Given the description of an element on the screen output the (x, y) to click on. 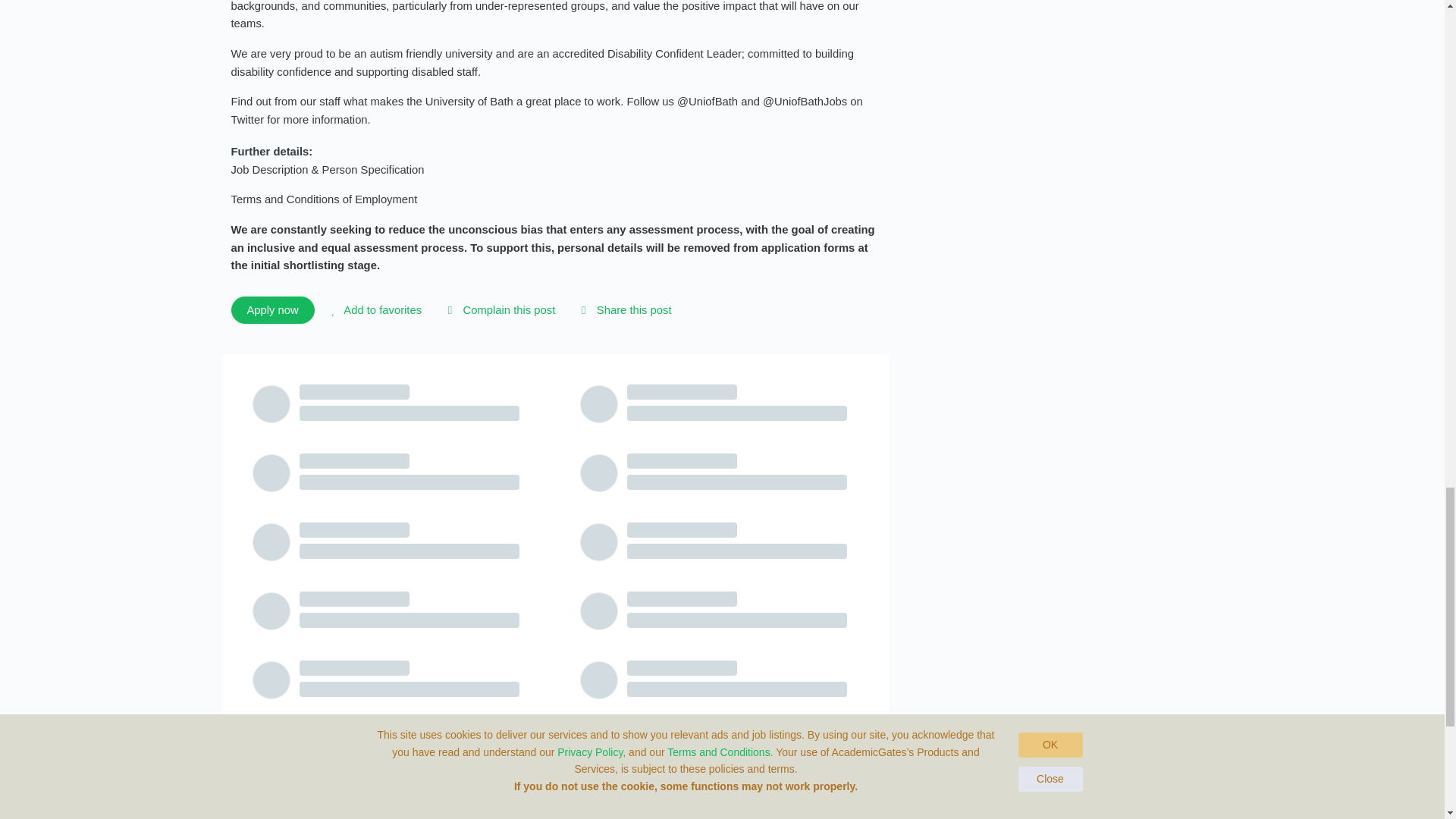
Share this post (623, 310)
Apply now (272, 309)
Complain this post (498, 310)
Add to favorites (374, 310)
